Given the description of an element on the screen output the (x, y) to click on. 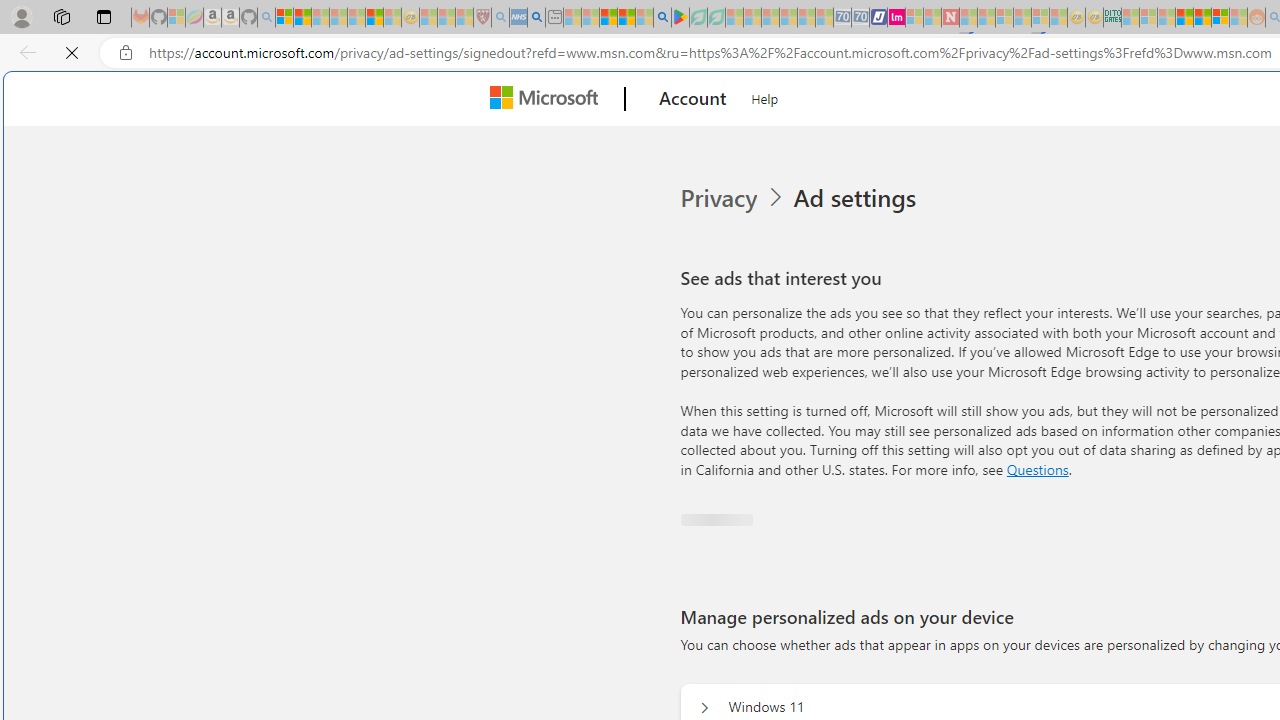
Go to Questions section (1037, 468)
Ad settings (858, 197)
The Weather Channel - MSN - Sleeping (320, 17)
Account (692, 99)
New Report Confirms 2023 Was Record Hot | Watch - Sleeping (356, 17)
Sign in to Microsoft (740, 548)
google - Search (662, 17)
